Given the description of an element on the screen output the (x, y) to click on. 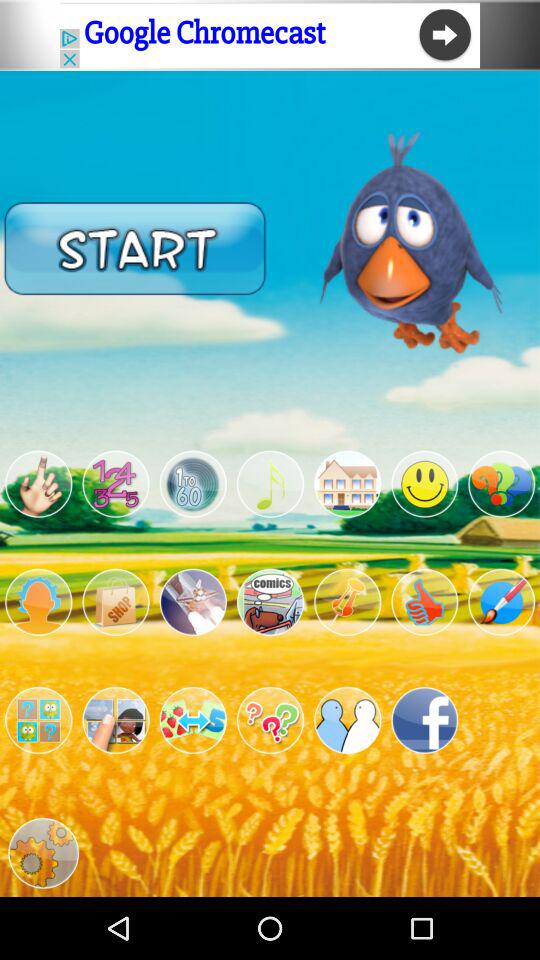
start playing (135, 247)
